Given the description of an element on the screen output the (x, y) to click on. 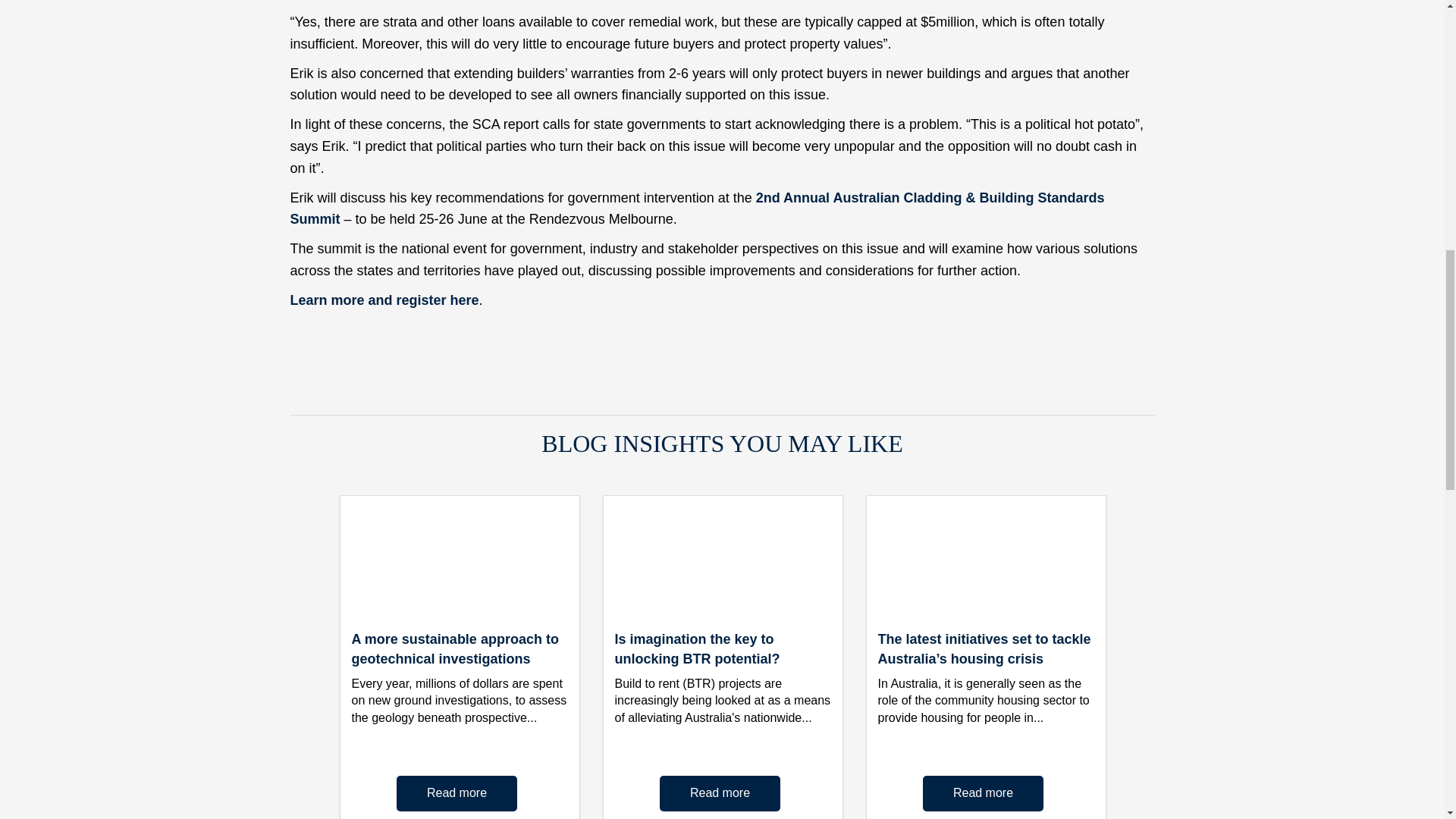
Is imagination the key to unlocking BTR potential? (696, 648)
Read more (456, 793)
Learn more and register here (384, 299)
Read more (719, 793)
A more sustainable approach to geotechnical investigations (455, 648)
